Given the description of an element on the screen output the (x, y) to click on. 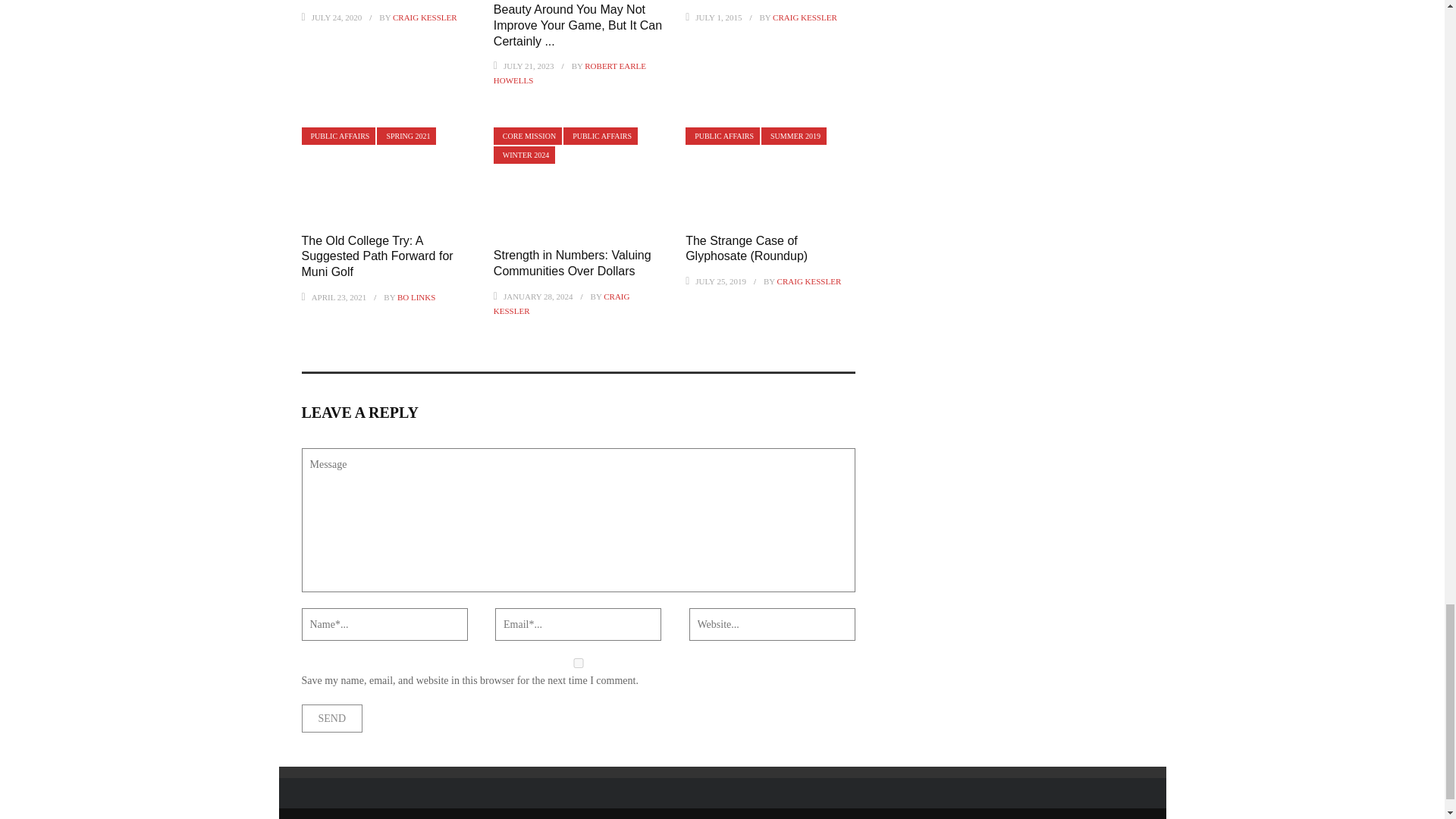
yes (578, 663)
Send (331, 718)
